Given the description of an element on the screen output the (x, y) to click on. 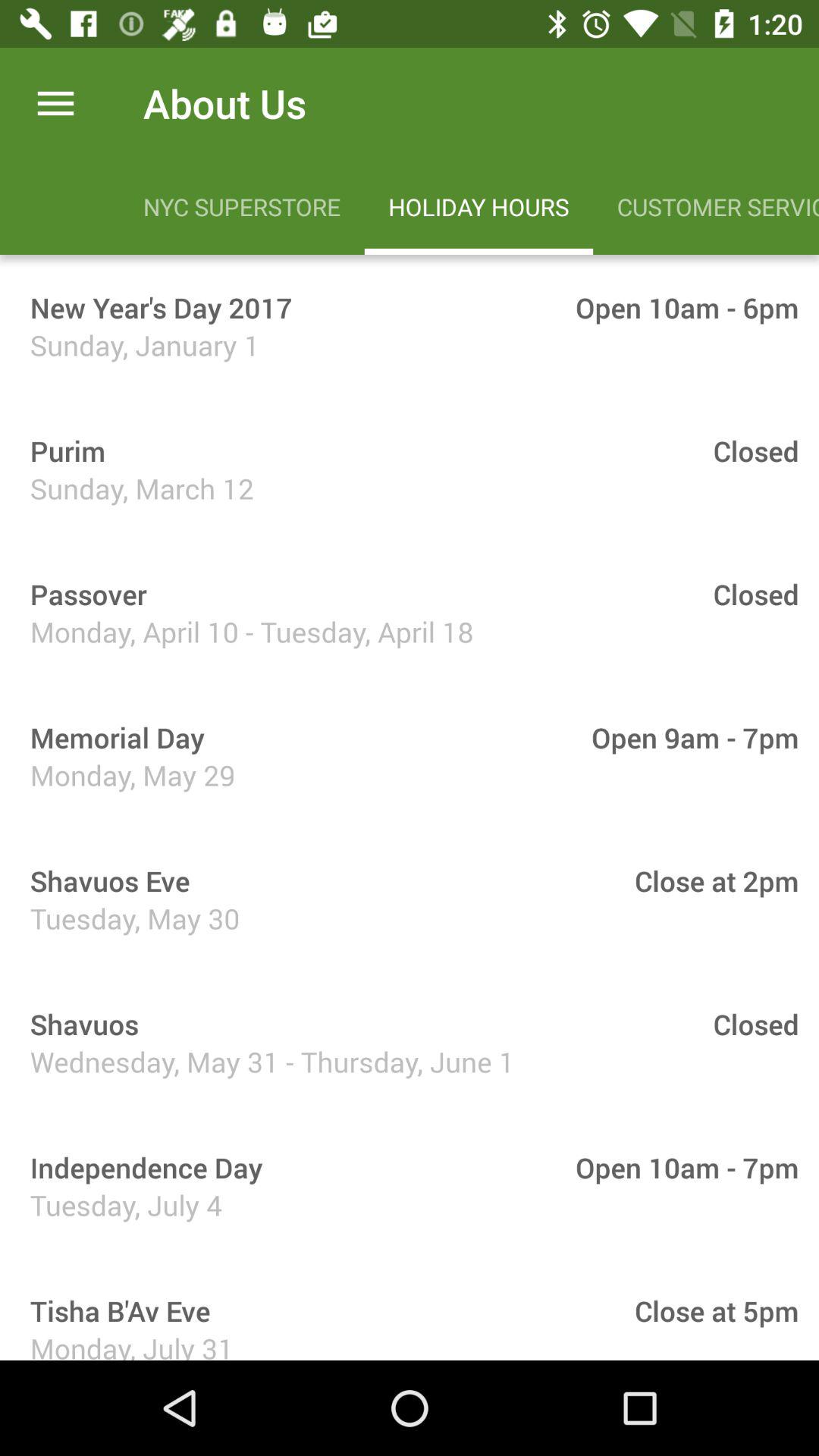
select the icon next to the open 10am - 6pm icon (155, 307)
